Given the description of an element on the screen output the (x, y) to click on. 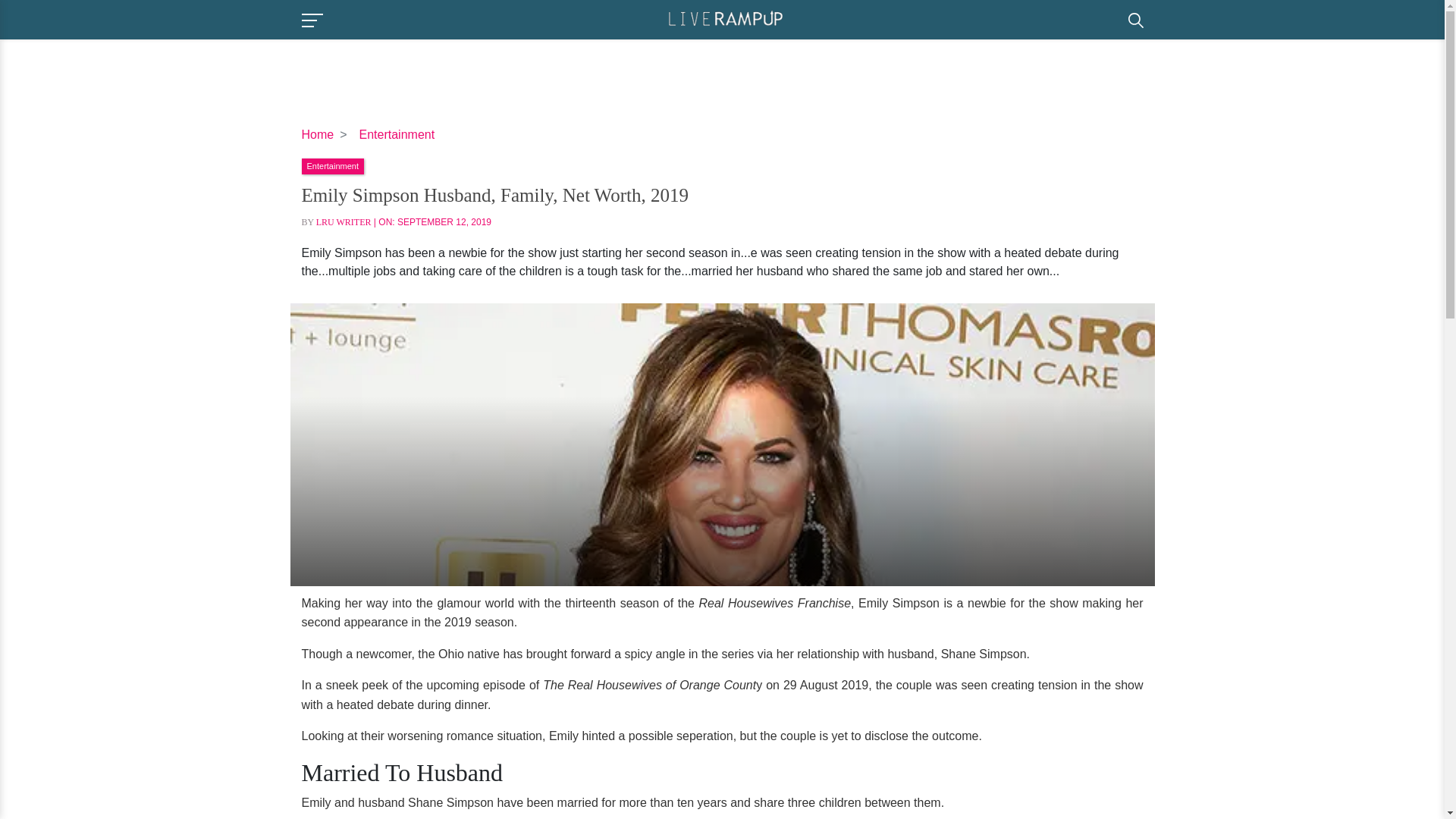
Home (317, 133)
Entertainment (397, 133)
Liverampup (725, 17)
Entertainment (332, 164)
LRU WRITER (343, 222)
